Given the description of an element on the screen output the (x, y) to click on. 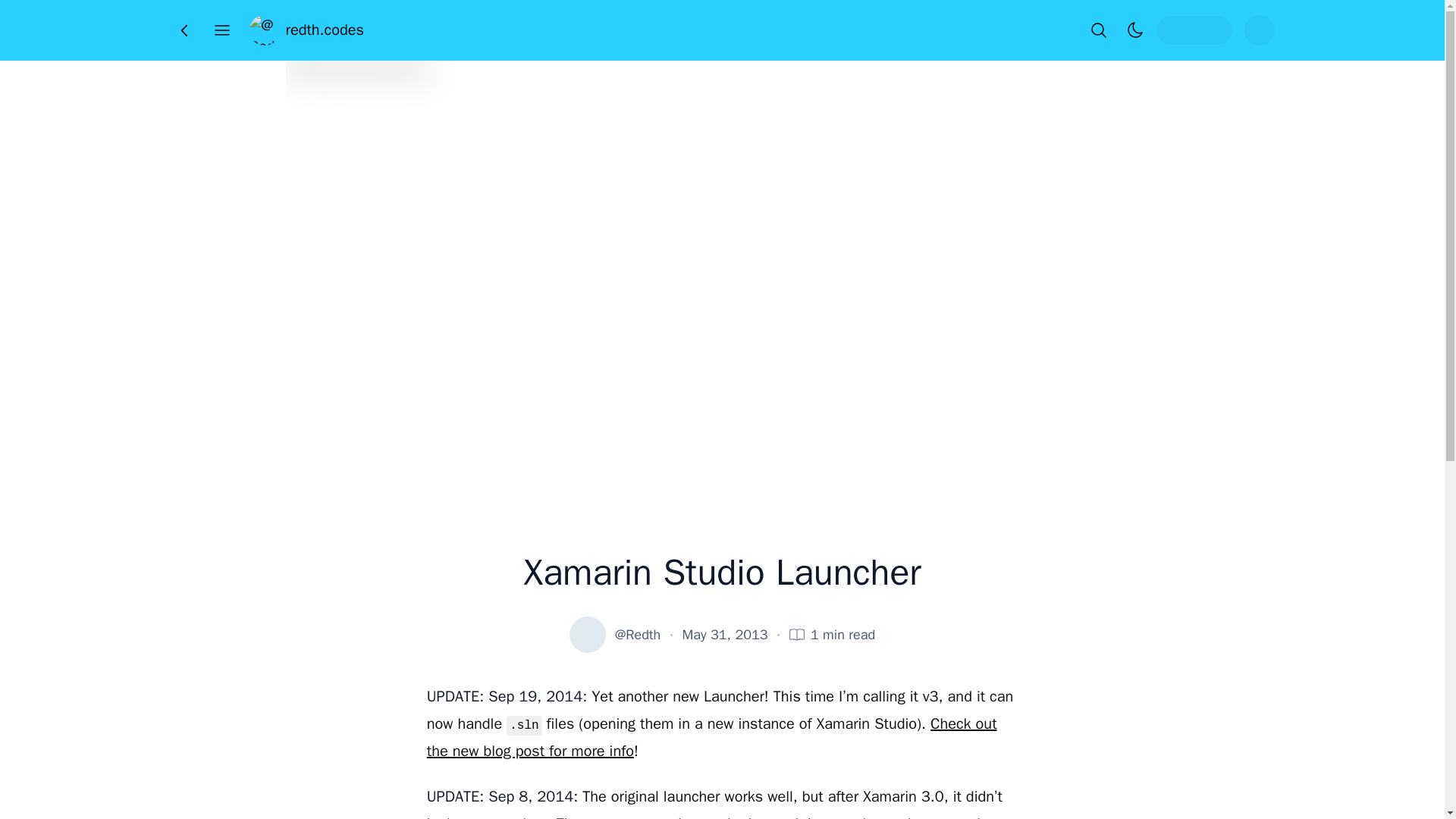
Check out the new blog post for more info (711, 737)
May 31, 2013 (725, 634)
redth.codes (305, 30)
